Given the description of an element on the screen output the (x, y) to click on. 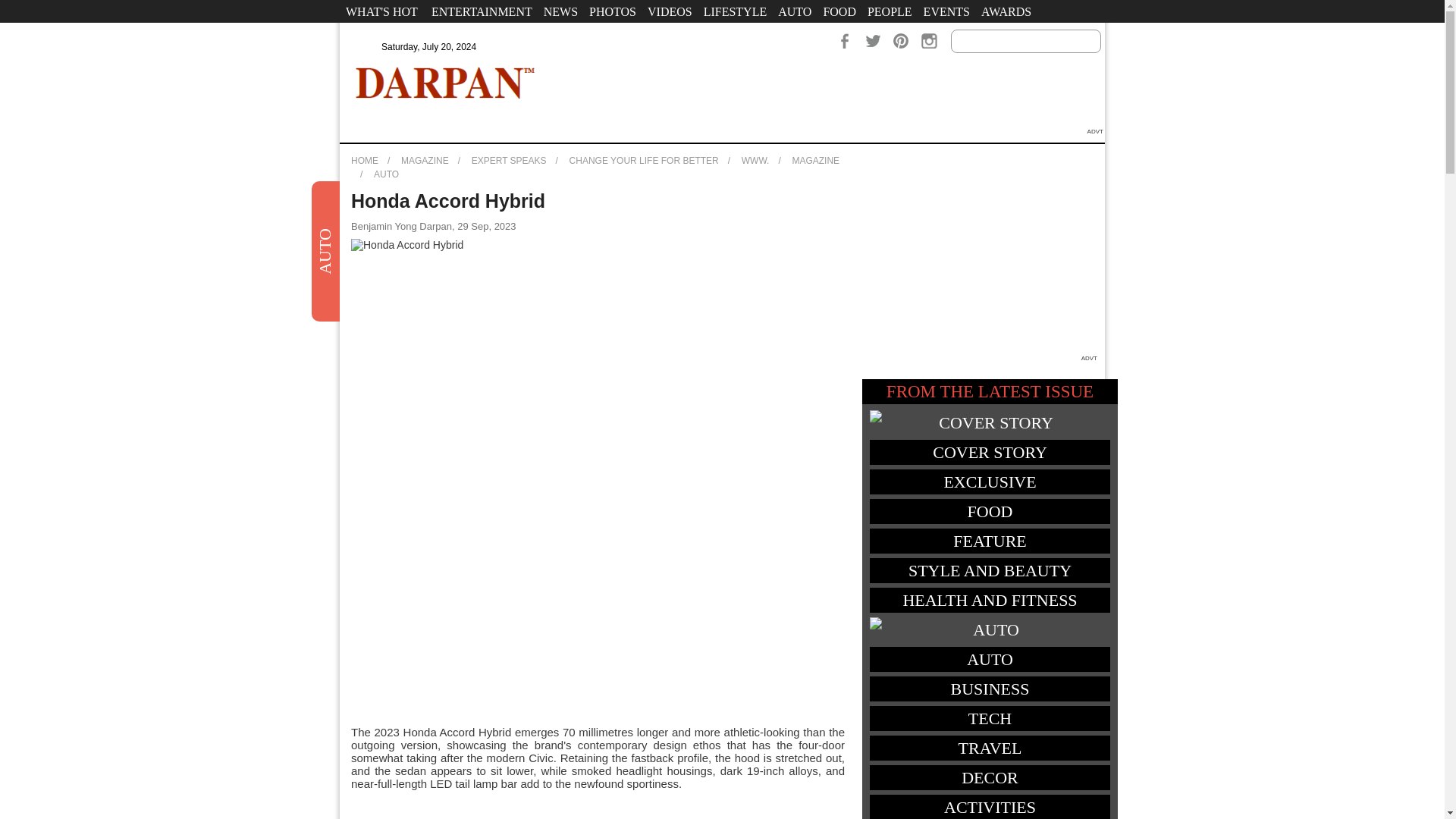
NEWS (560, 11)
PEOPLE (889, 11)
Events (947, 11)
FOOD (839, 11)
Auto (794, 11)
MAGAZINE (816, 160)
People (889, 11)
REAL ESTATE (385, 33)
Food (839, 11)
PHOTOS (612, 11)
Real Estate (385, 33)
Entertainment (481, 11)
WHAT'S HOT (381, 11)
Photos (612, 11)
ENTERTAINMENT (481, 11)
